Given the description of an element on the screen output the (x, y) to click on. 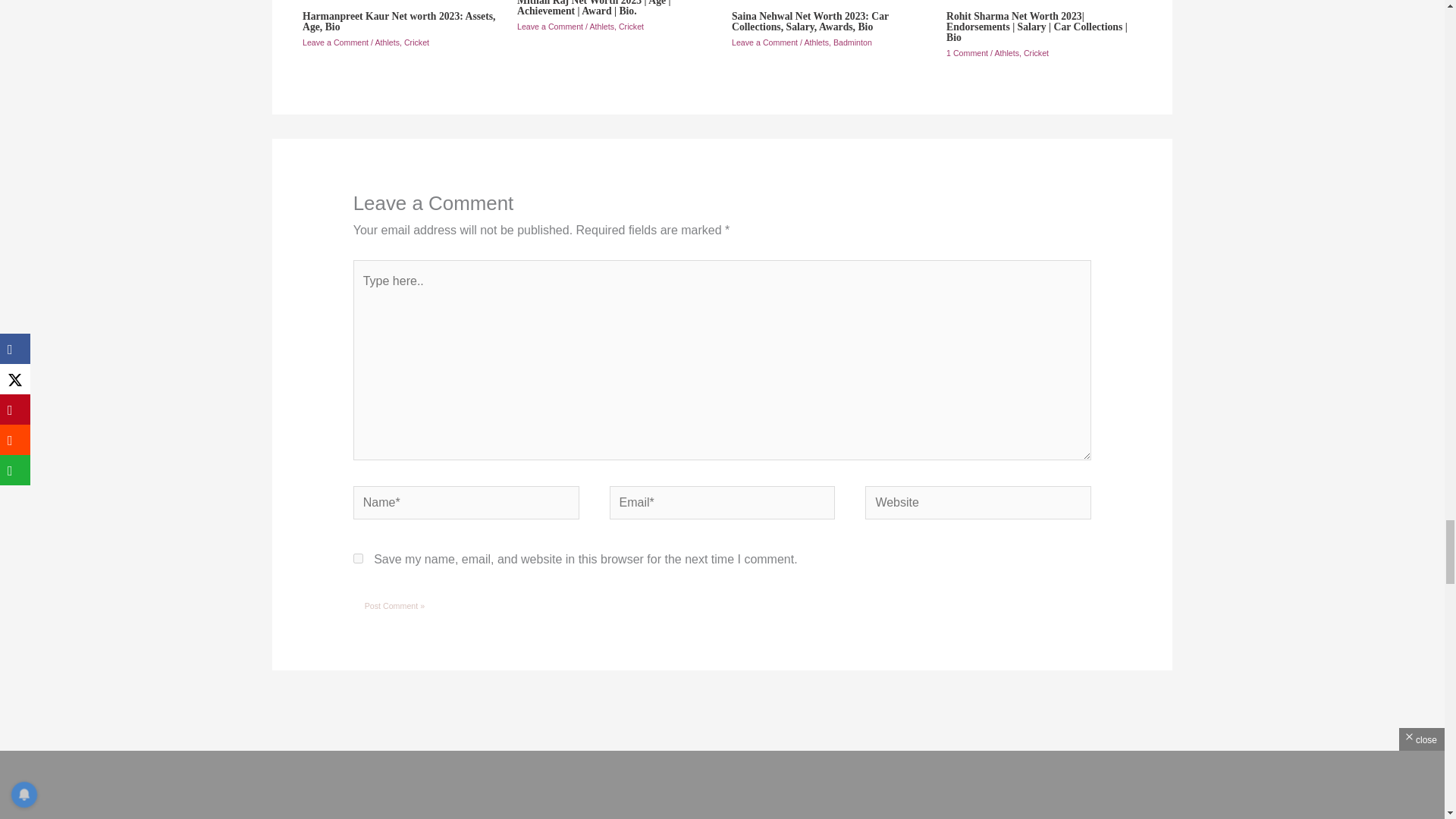
yes (357, 558)
